Given the description of an element on the screen output the (x, y) to click on. 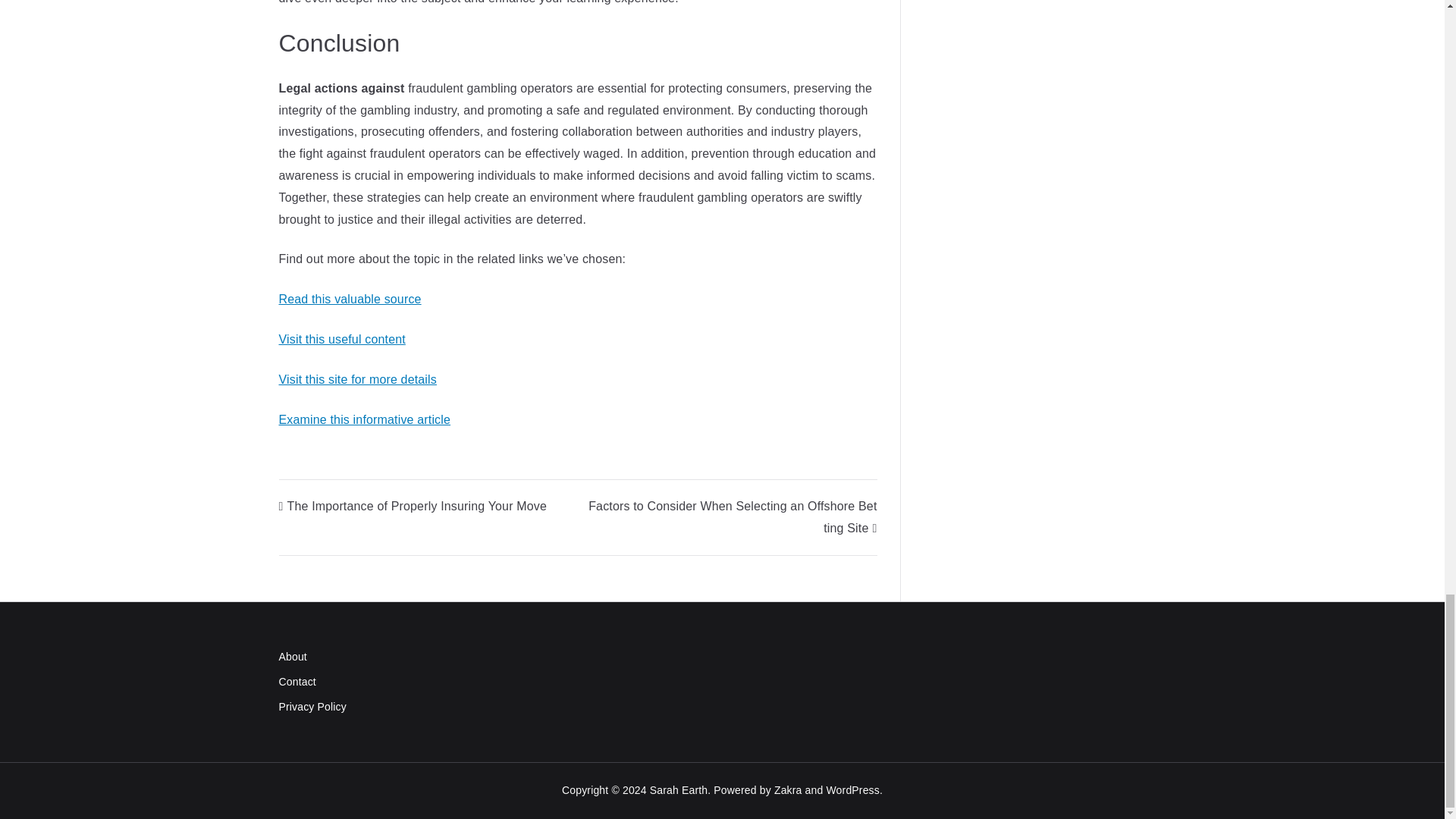
Examine this informative article (365, 419)
Visit this useful content (342, 338)
Factors to Consider When Selecting an Offshore Betting Site (732, 516)
Visit this site for more details (357, 379)
WordPress (853, 789)
The Importance of Properly Insuring Your Move (413, 505)
Zakra (788, 789)
Sarah Earth (678, 789)
Read this valuable source (350, 298)
